Given the description of an element on the screen output the (x, y) to click on. 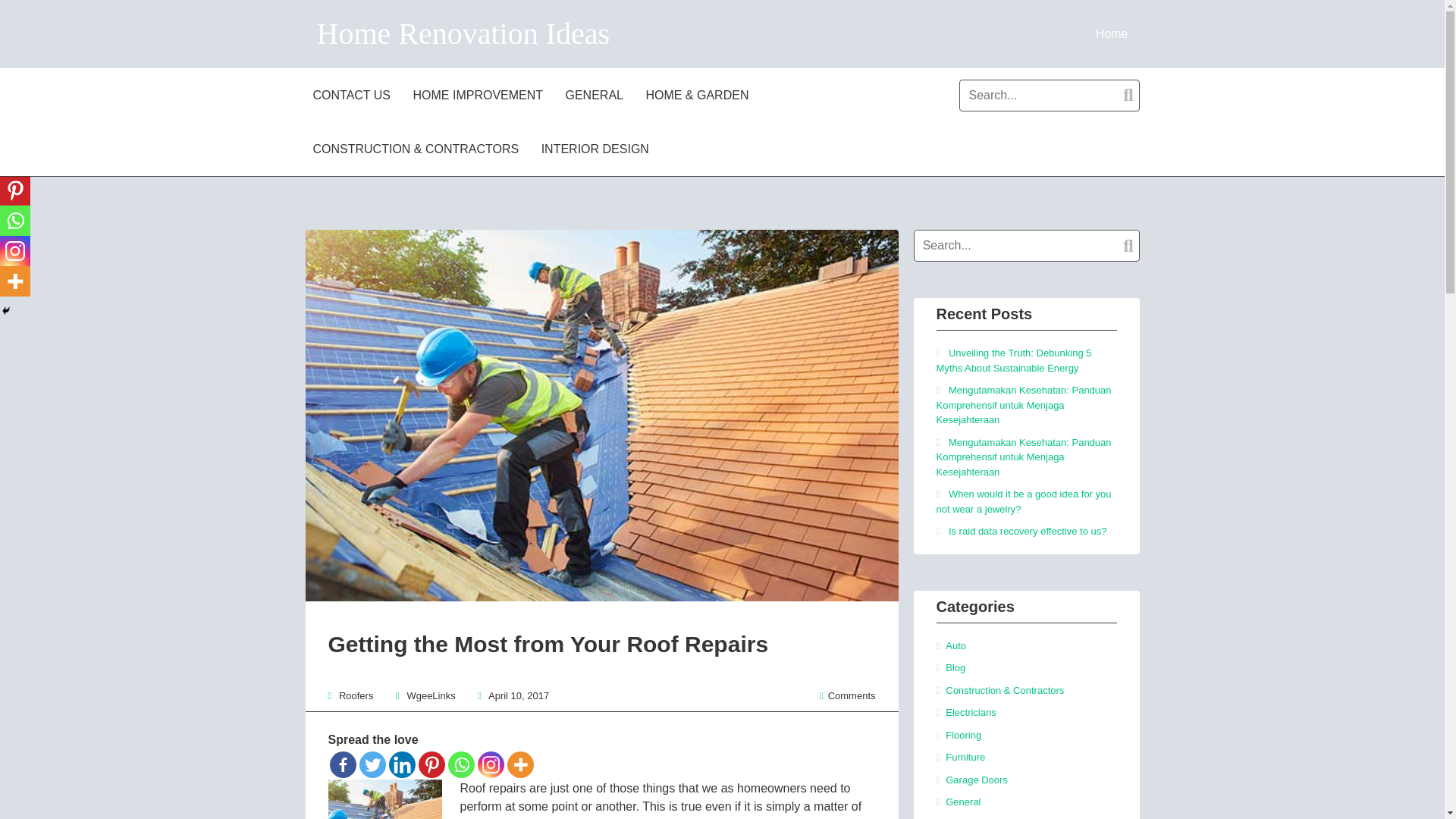
Instagram (15, 250)
April 10, 2017 (517, 695)
Search for: (1048, 95)
When would it be a good idea for you not wear a jewelry? (1023, 501)
INTERIOR DESIGN (597, 149)
More (519, 764)
Home Renovation Ideas (463, 33)
More (15, 281)
Pinterest (15, 190)
Twitter (372, 764)
Whatsapp (15, 220)
Twitter (15, 129)
Facebook (342, 764)
Linkedin (15, 159)
